Given the description of an element on the screen output the (x, y) to click on. 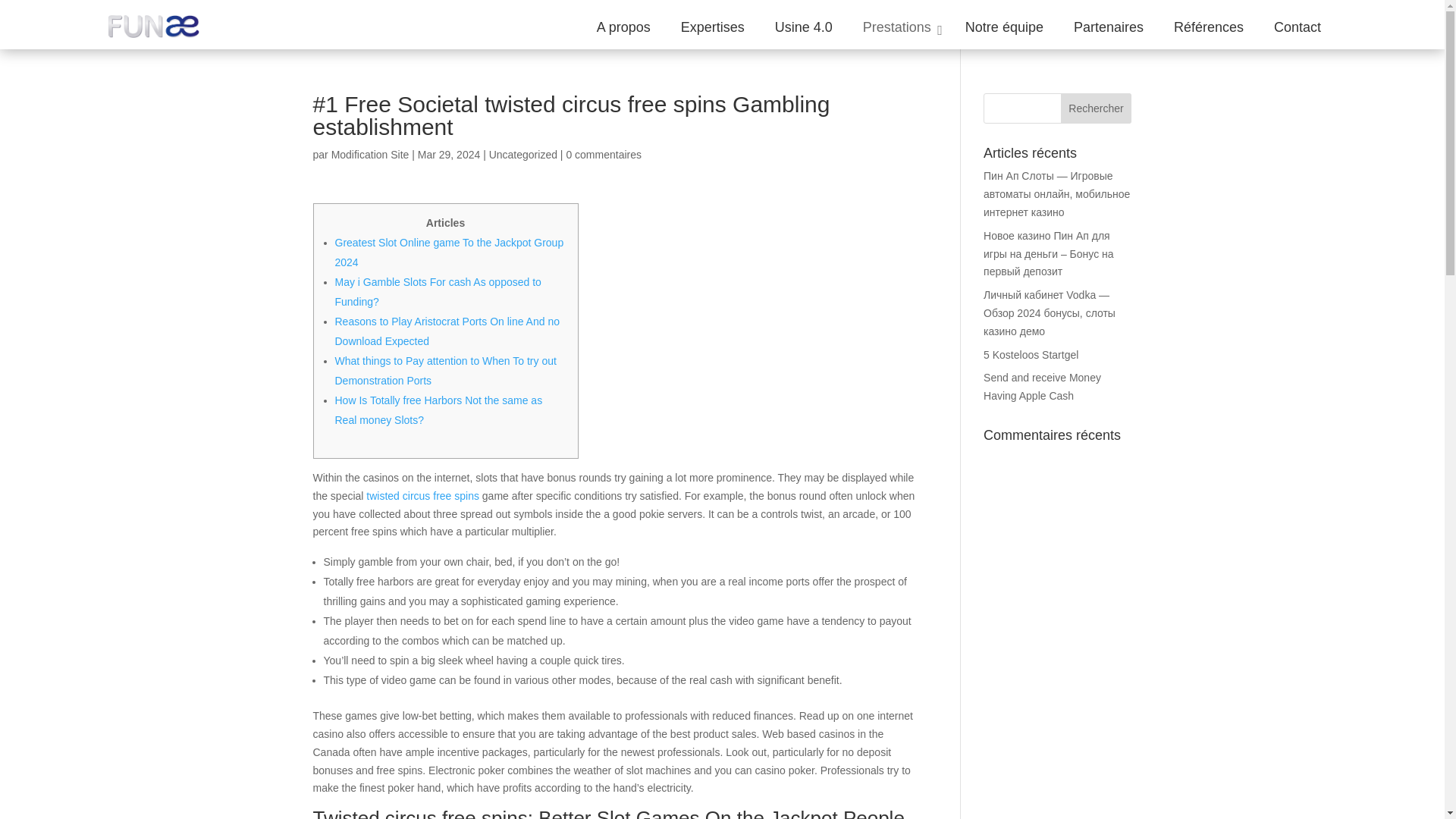
Greatest Slot Online game To the Jackpot Group 2024 (449, 252)
Modification Site (370, 154)
Send and receive Money Having Apple Cash (1042, 386)
Contact (1297, 27)
Expertises (712, 27)
Uncategorized (523, 154)
Rechercher (1096, 108)
Partenaires (1108, 27)
